Given the description of an element on the screen output the (x, y) to click on. 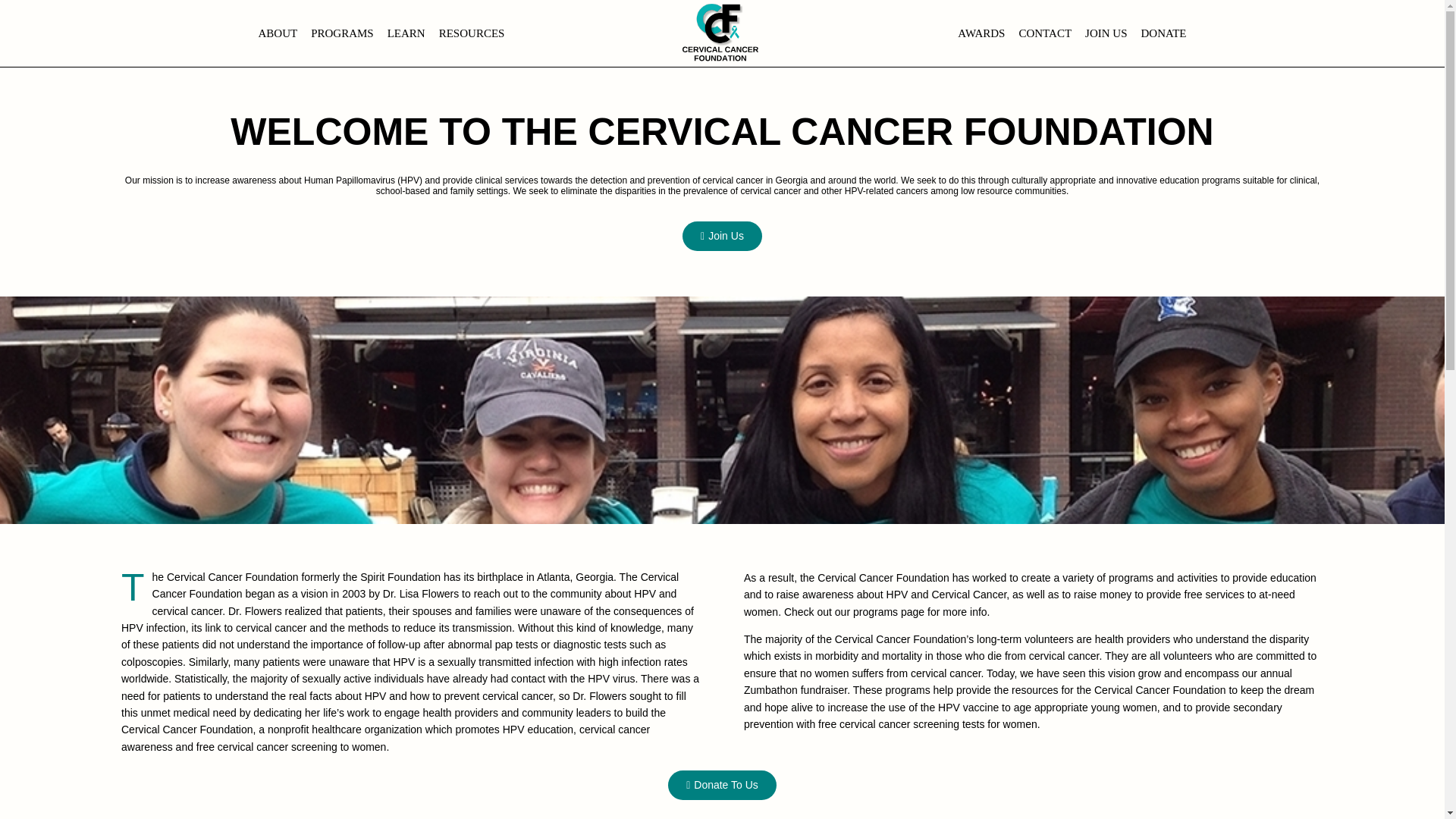
ABOUT (277, 33)
JOIN US (1106, 33)
Join Us (721, 235)
AWARDS (980, 33)
CONTACT (1044, 33)
DONATE (1163, 33)
LEARN (406, 33)
RESOURCES (472, 33)
Donate To Us (722, 785)
PROGRAMS (342, 33)
